Given the description of an element on the screen output the (x, y) to click on. 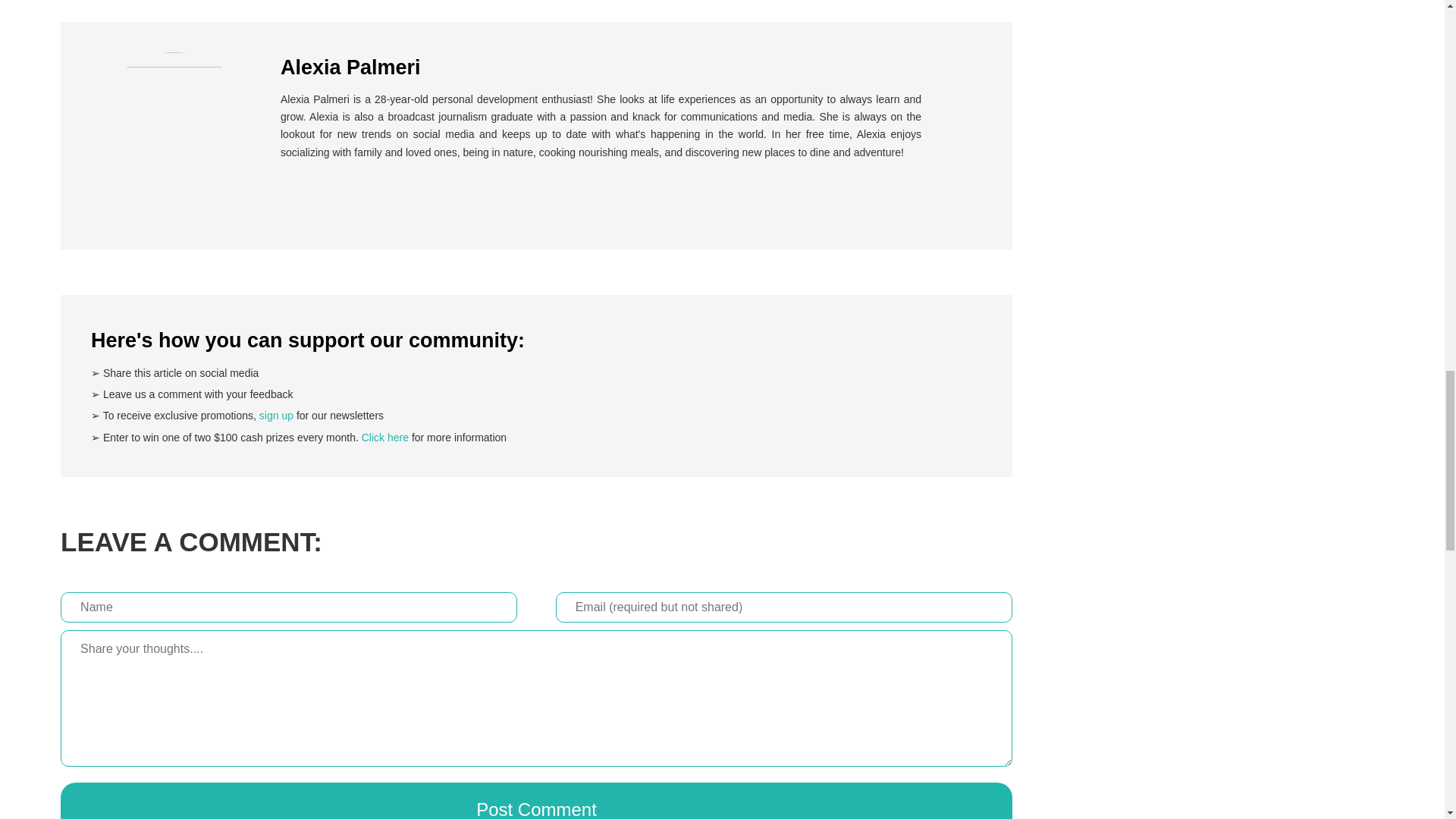
Post Comment (536, 800)
Post Comment (536, 800)
Click here (385, 437)
sign up (276, 415)
Alexia Palmeri (173, 62)
